Given the description of an element on the screen output the (x, y) to click on. 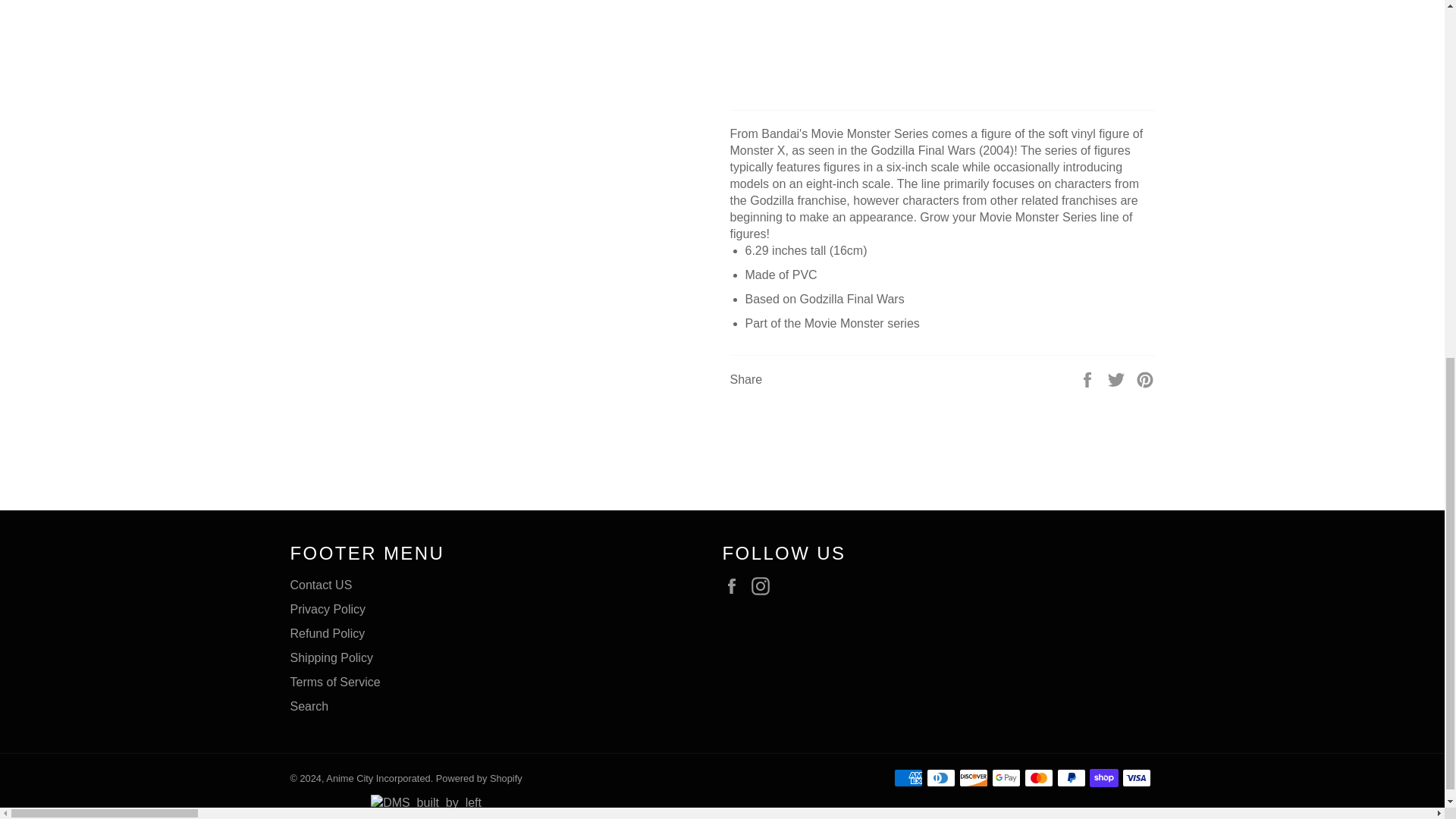
Pin on Pinterest (1144, 378)
Tweet on Twitter (1117, 378)
Share on Facebook (1088, 378)
Anime City Incorporated on Instagram (764, 586)
Anime City Incorporated on Facebook (735, 586)
